Given the description of an element on the screen output the (x, y) to click on. 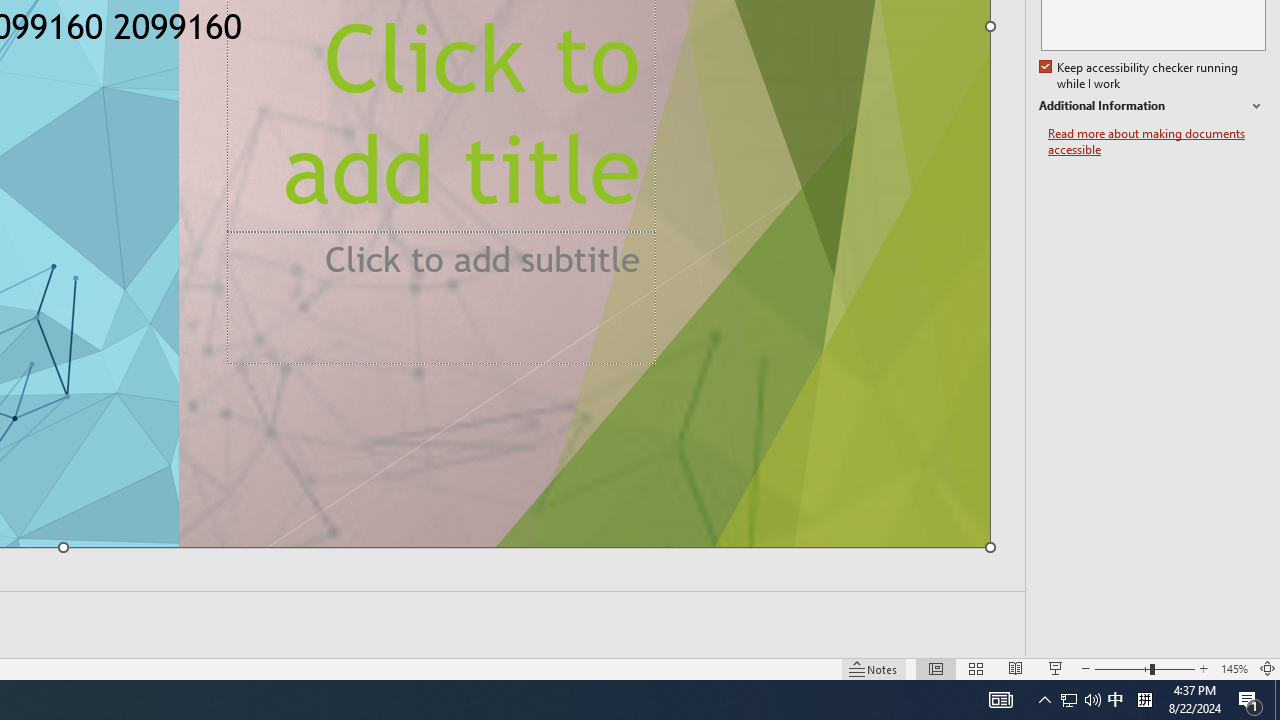
Zoom 145% (1234, 668)
